Given the description of an element on the screen output the (x, y) to click on. 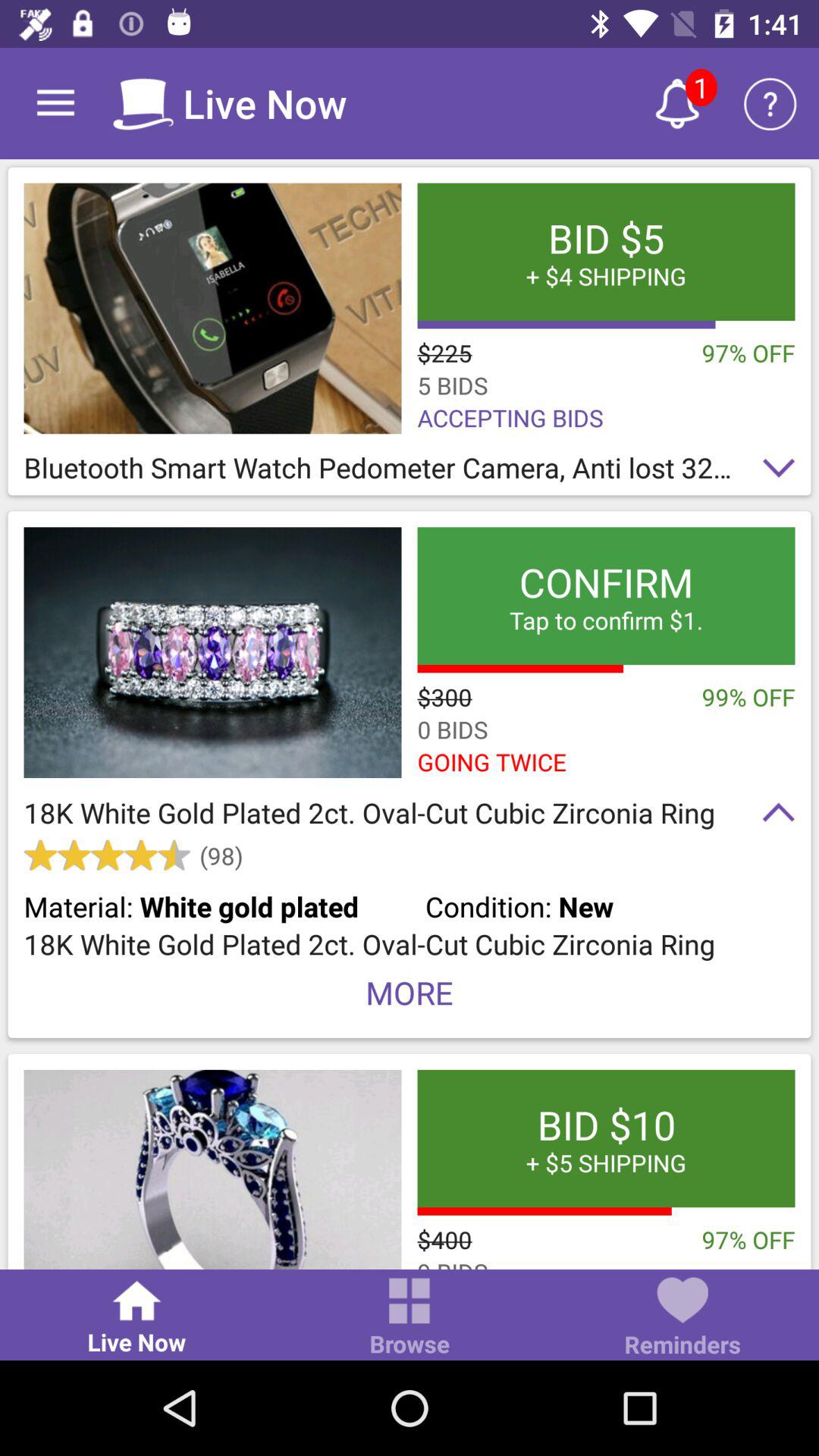
1 new alert (677, 103)
